Given the description of an element on the screen output the (x, y) to click on. 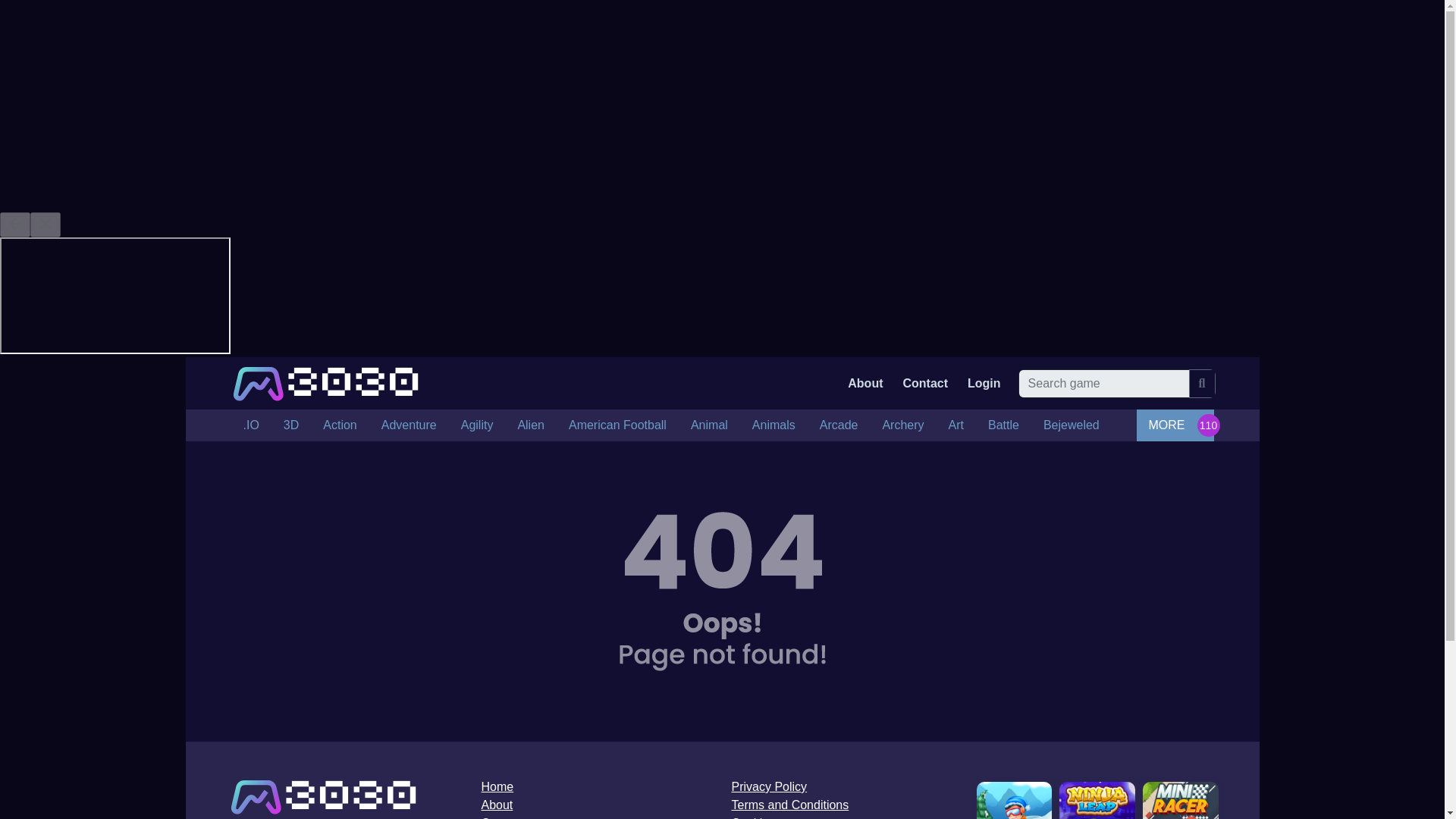
Login (983, 383)
Bejeweled (1071, 425)
Adventure (408, 425)
Animals (773, 425)
Battle (1002, 425)
Archery (902, 425)
Animal (708, 425)
Agility (476, 425)
.IO (250, 425)
Alien (530, 425)
